Given the description of an element on the screen output the (x, y) to click on. 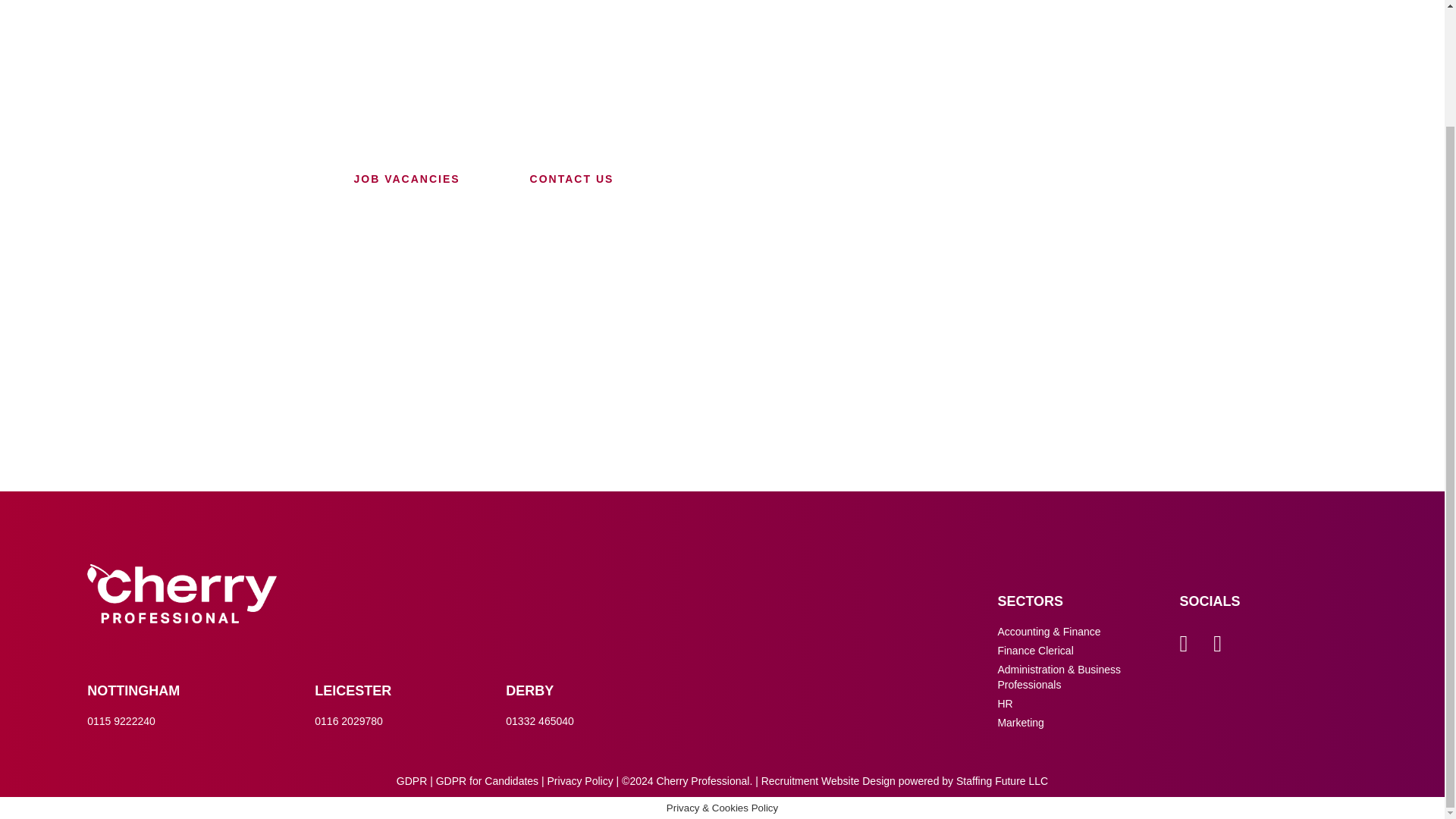
CONTACT US (572, 179)
0115 9222240 (121, 720)
JOB VACANCIES (406, 179)
cherry logo white (181, 593)
